Given the description of an element on the screen output the (x, y) to click on. 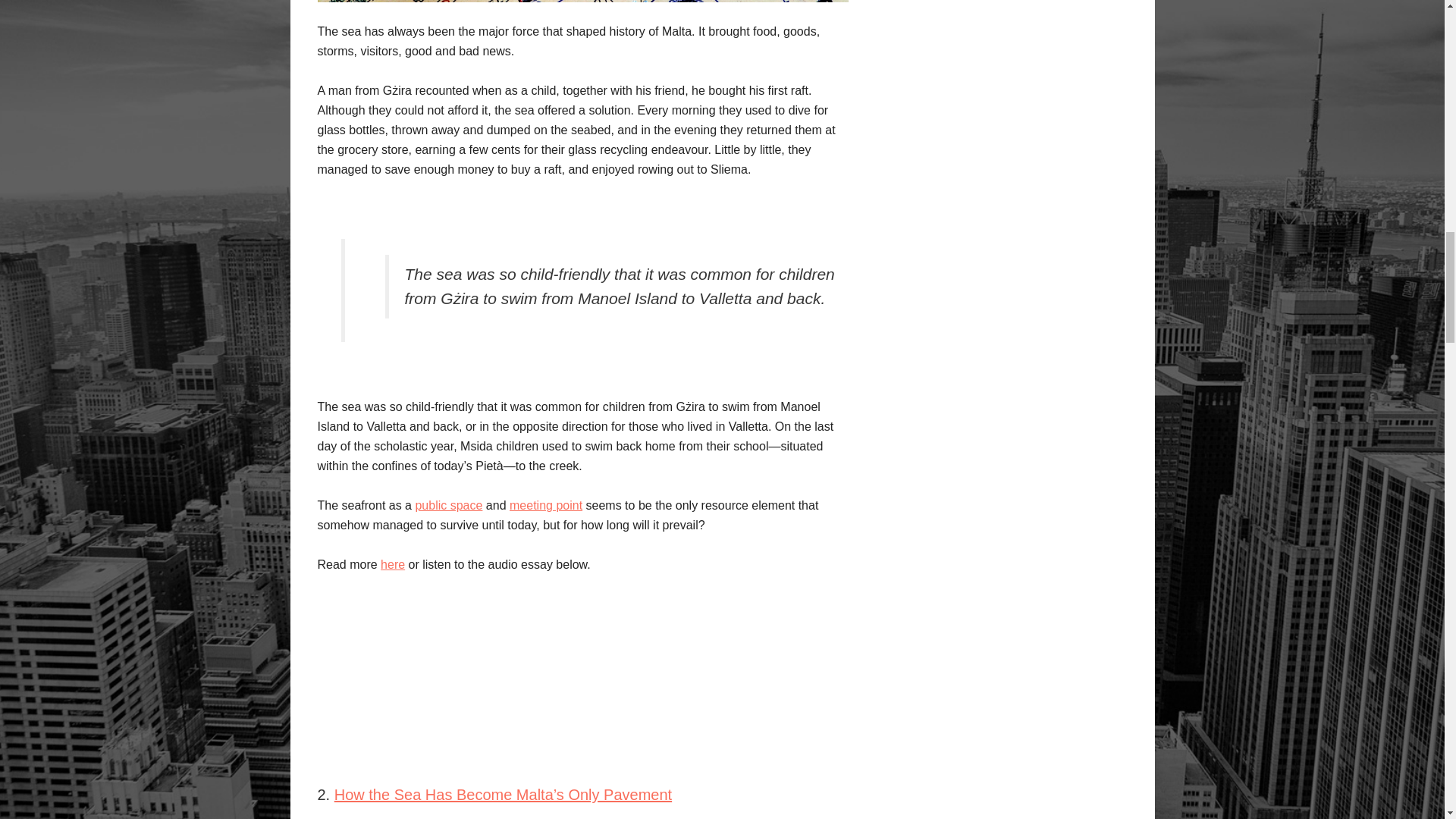
meeting point (545, 504)
public space (447, 504)
here (392, 563)
